Given the description of an element on the screen output the (x, y) to click on. 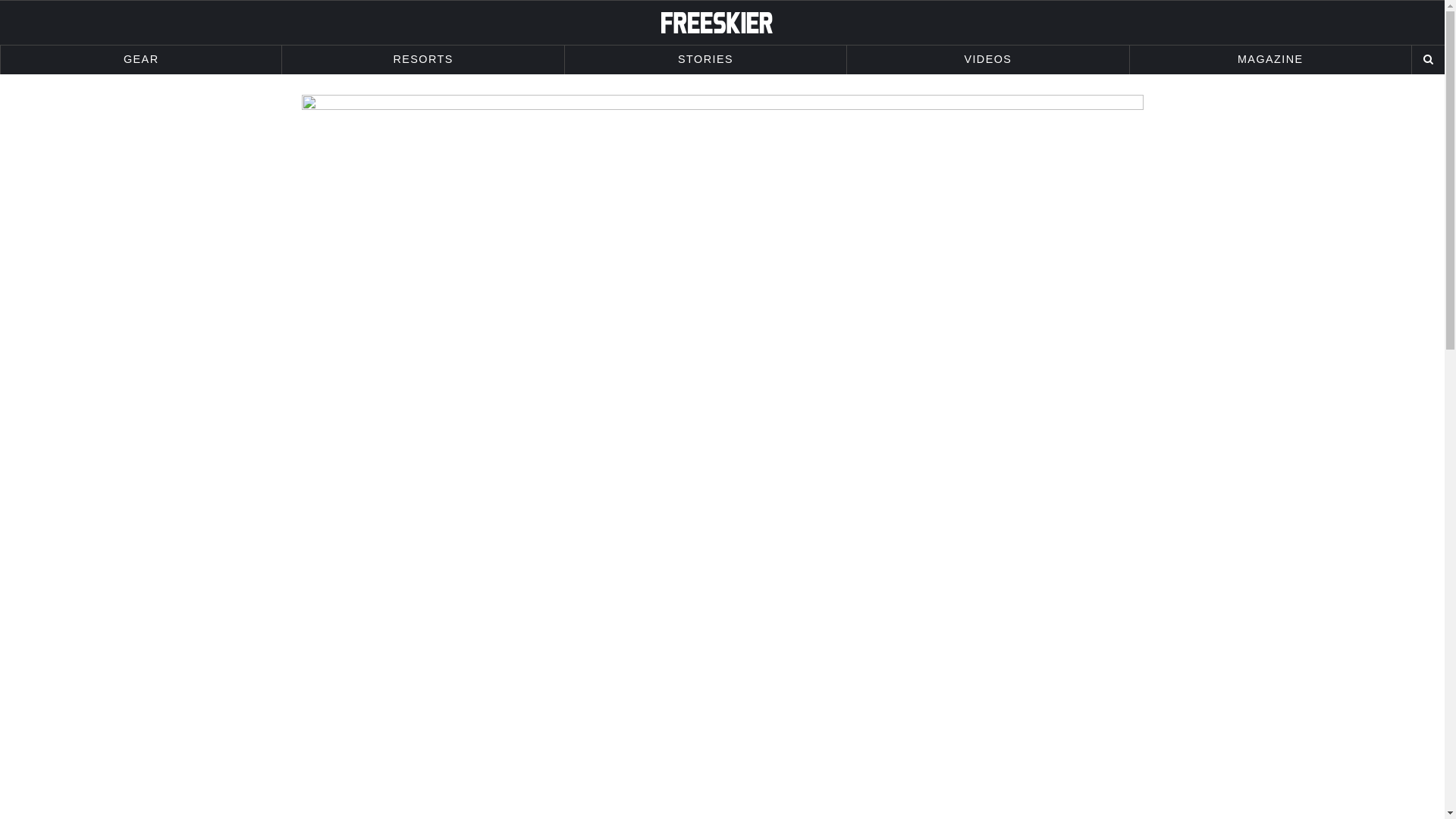
MAGAZINE (1269, 59)
STORIES (704, 59)
STORIES (704, 59)
MAGAZINE (1269, 59)
VIDEOS (987, 59)
VIDEOS (987, 59)
GEAR (141, 59)
RESORTS (422, 59)
GEAR (141, 59)
RESORTS (422, 59)
